Given the description of an element on the screen output the (x, y) to click on. 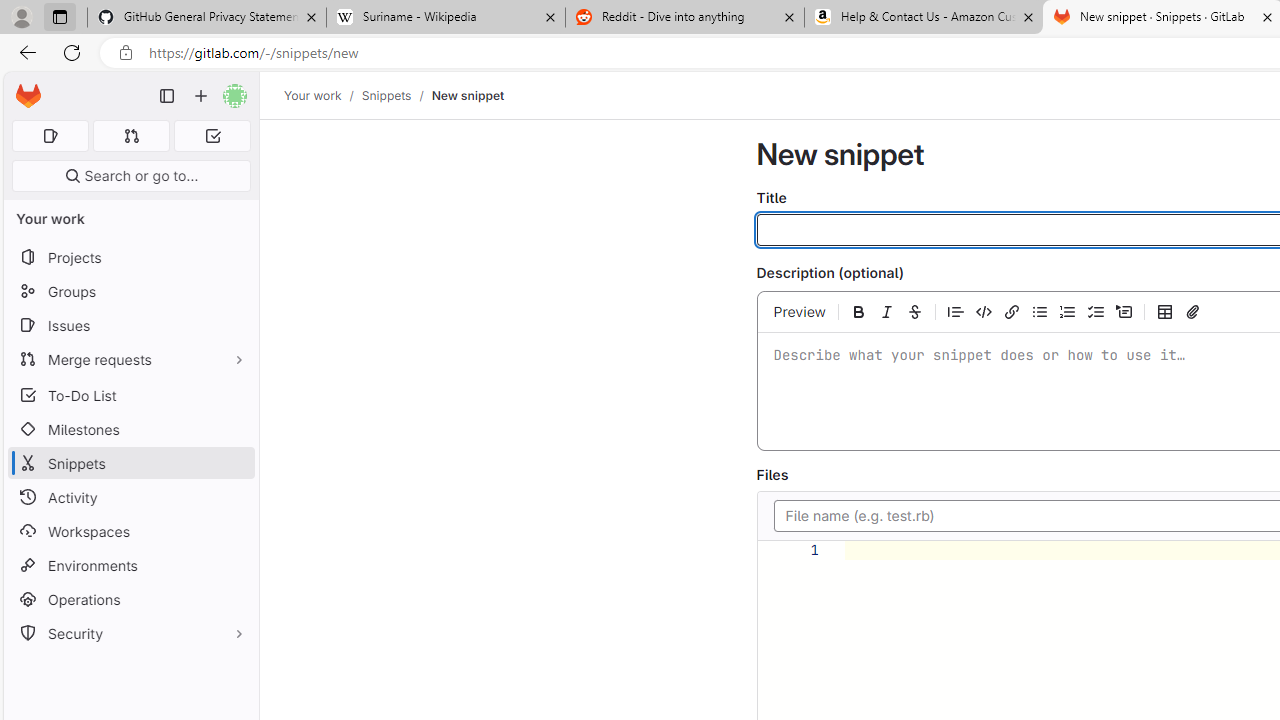
Assigned issues 0 (50, 136)
